Given the description of an element on the screen output the (x, y) to click on. 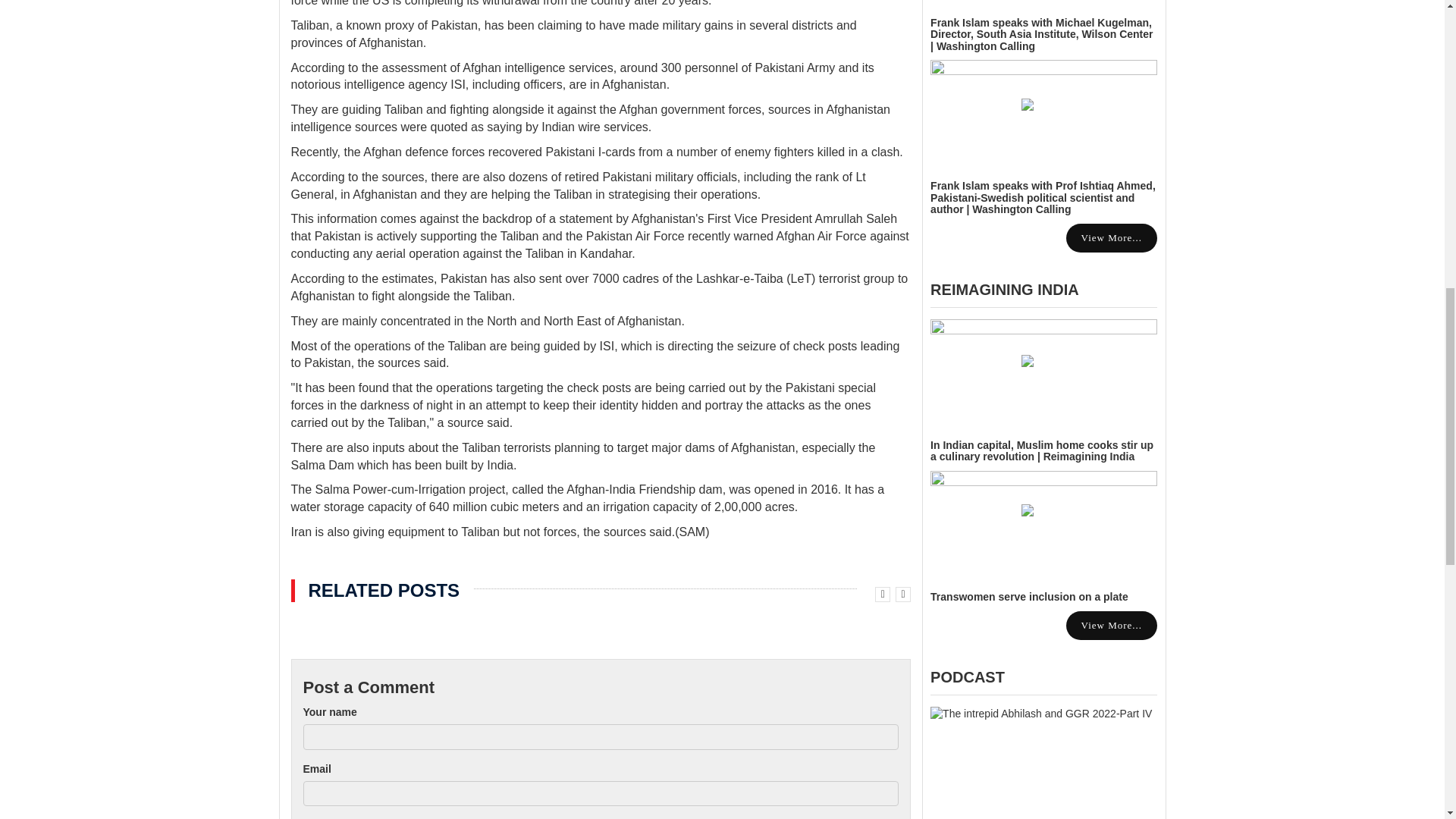
The intrepid Abhilash and GGR 2022-Part IV (1043, 762)
